Given the description of an element on the screen output the (x, y) to click on. 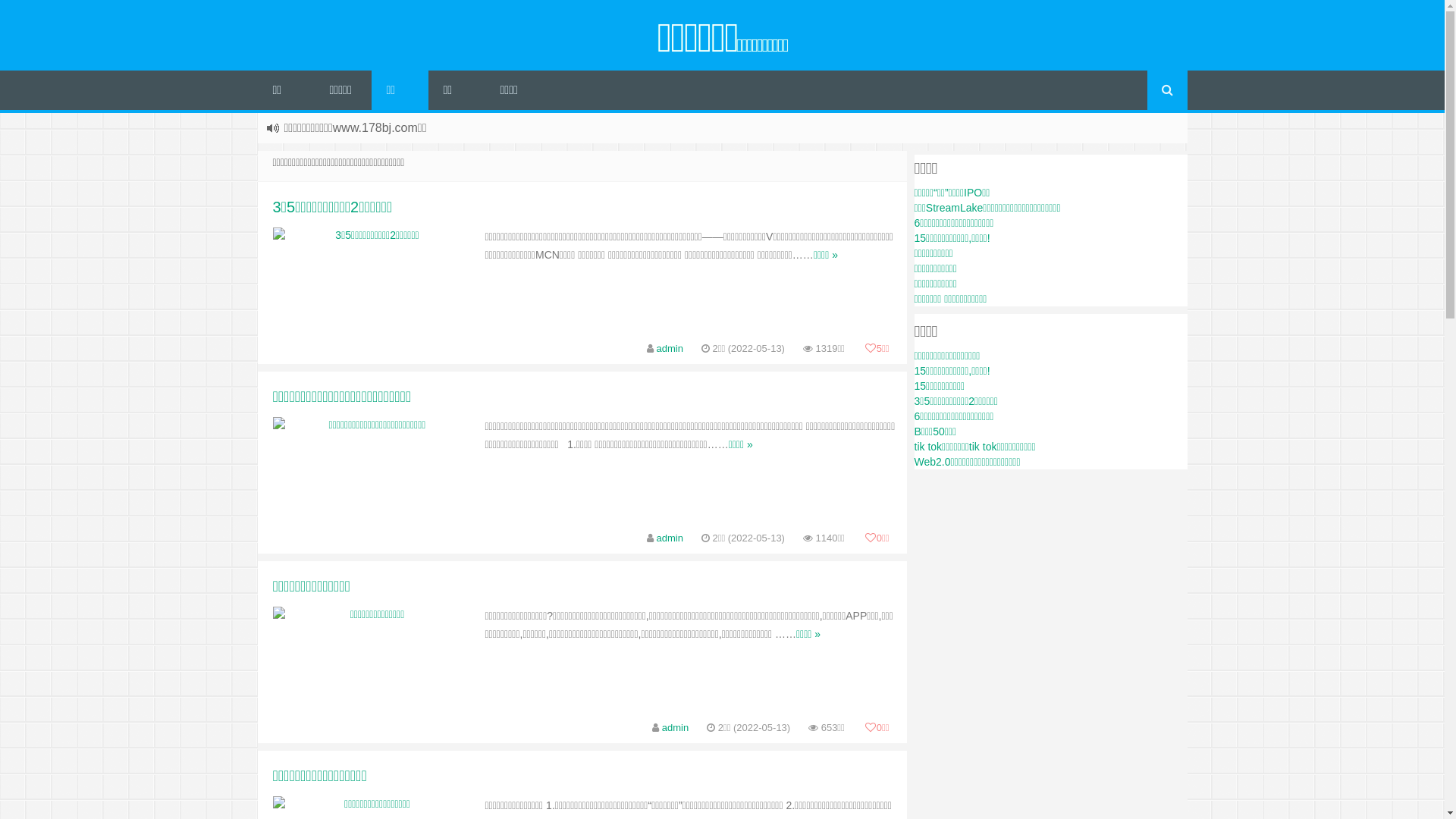
admin Element type: text (669, 348)
admin Element type: text (669, 537)
admin Element type: text (675, 727)
